Given the description of an element on the screen output the (x, y) to click on. 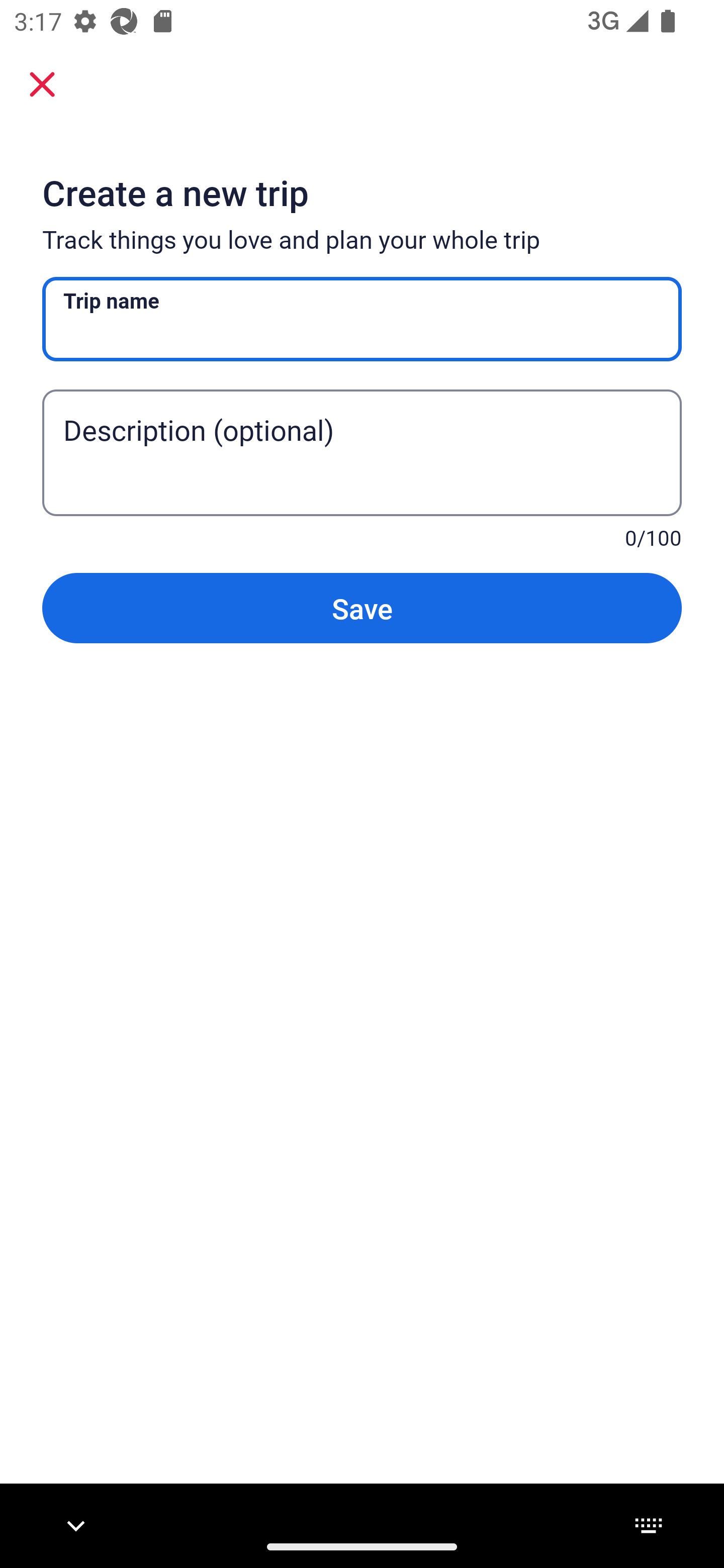
Close (41, 83)
Trip name (361, 318)
Save Button Save (361, 607)
